Given the description of an element on the screen output the (x, y) to click on. 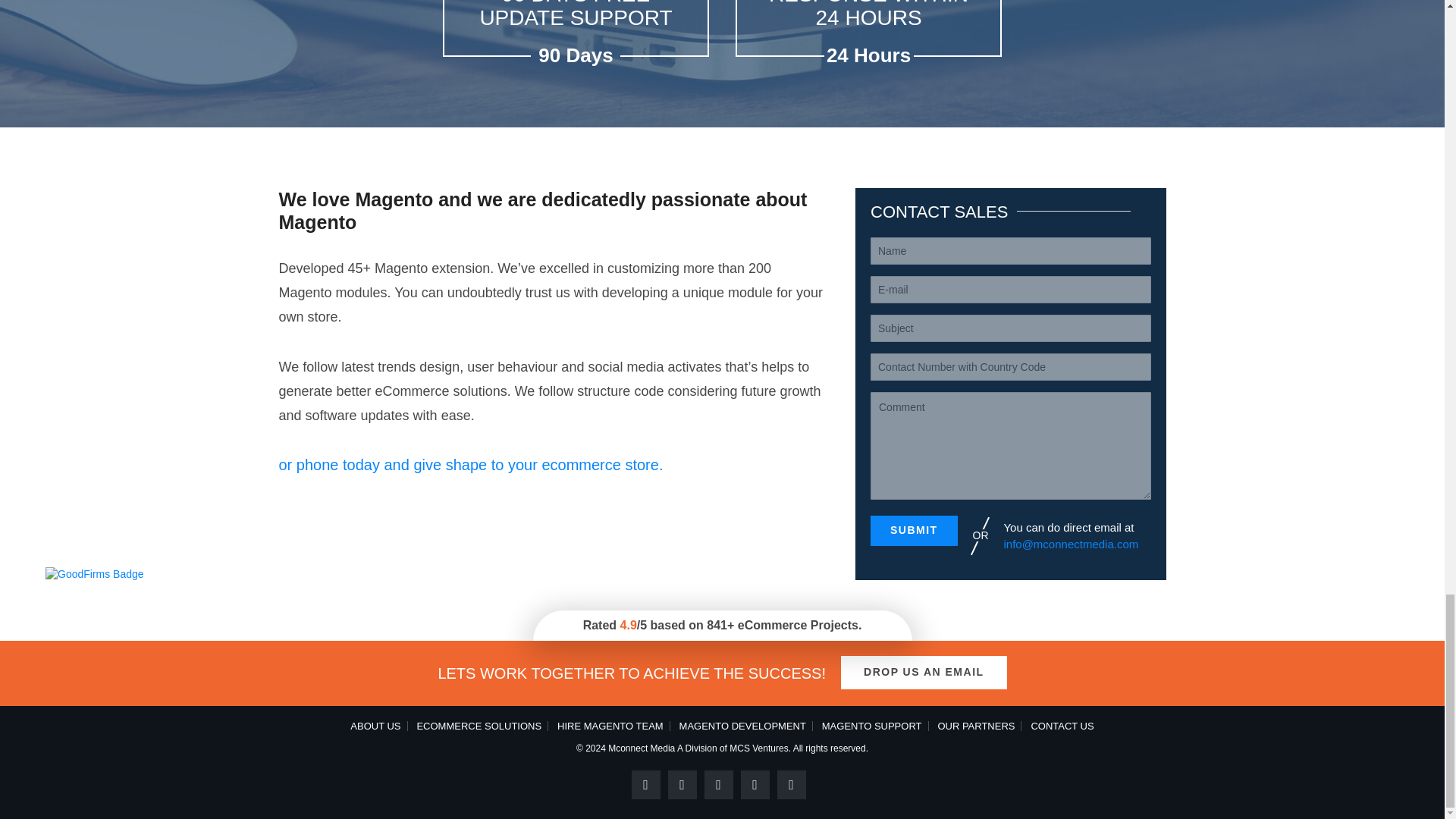
SUBMIT (914, 530)
